Given the description of an element on the screen output the (x, y) to click on. 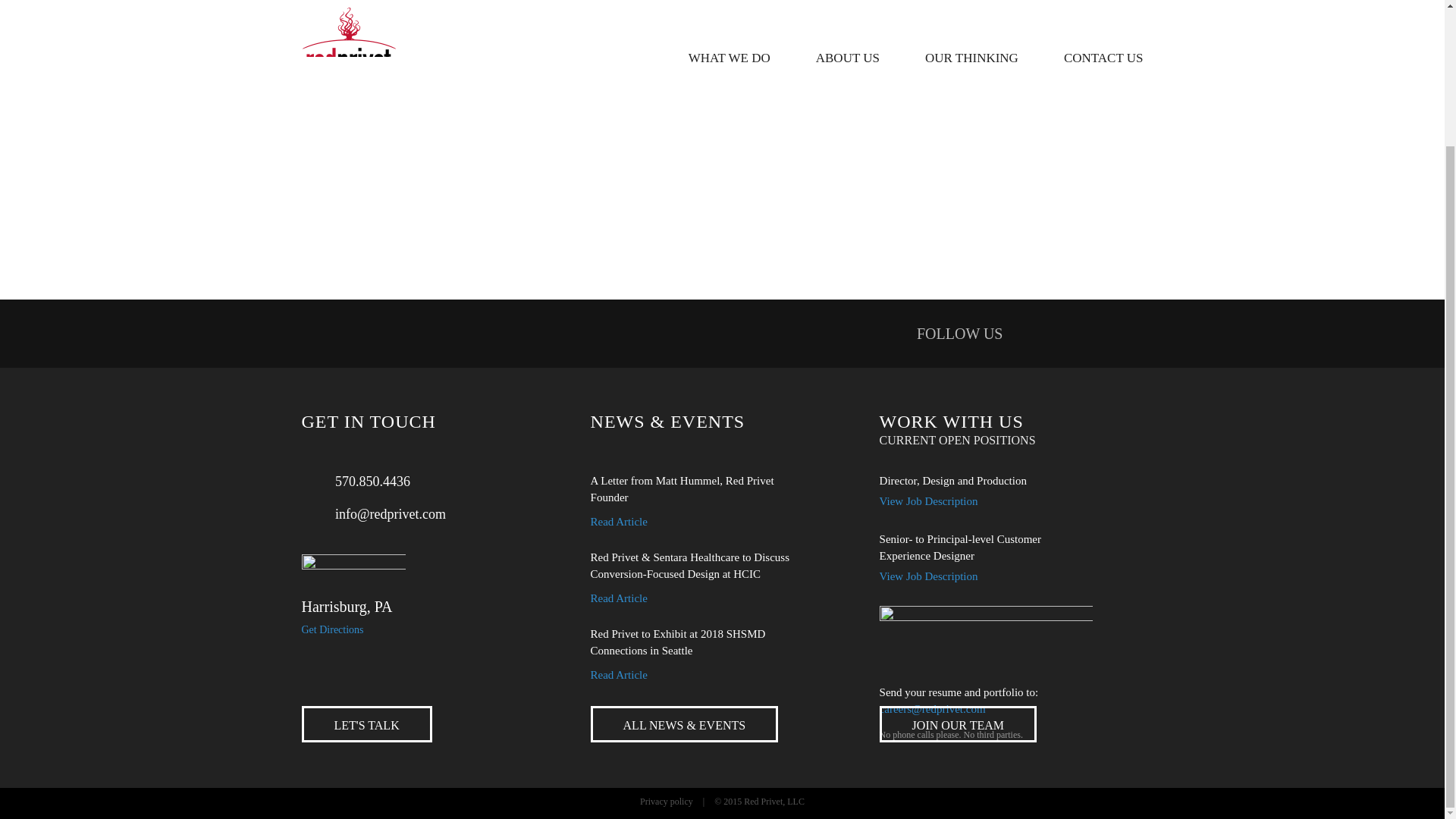
570.850.4436 (355, 481)
Read Article (619, 598)
Privacy policy (666, 800)
Get Directions (332, 629)
link-facebook (1127, 332)
LET'S TALK (366, 723)
link-linkedin (1037, 332)
View Job Description (928, 575)
link-twitter (1082, 332)
JOIN OUR TEAM (957, 723)
